Given the description of an element on the screen output the (x, y) to click on. 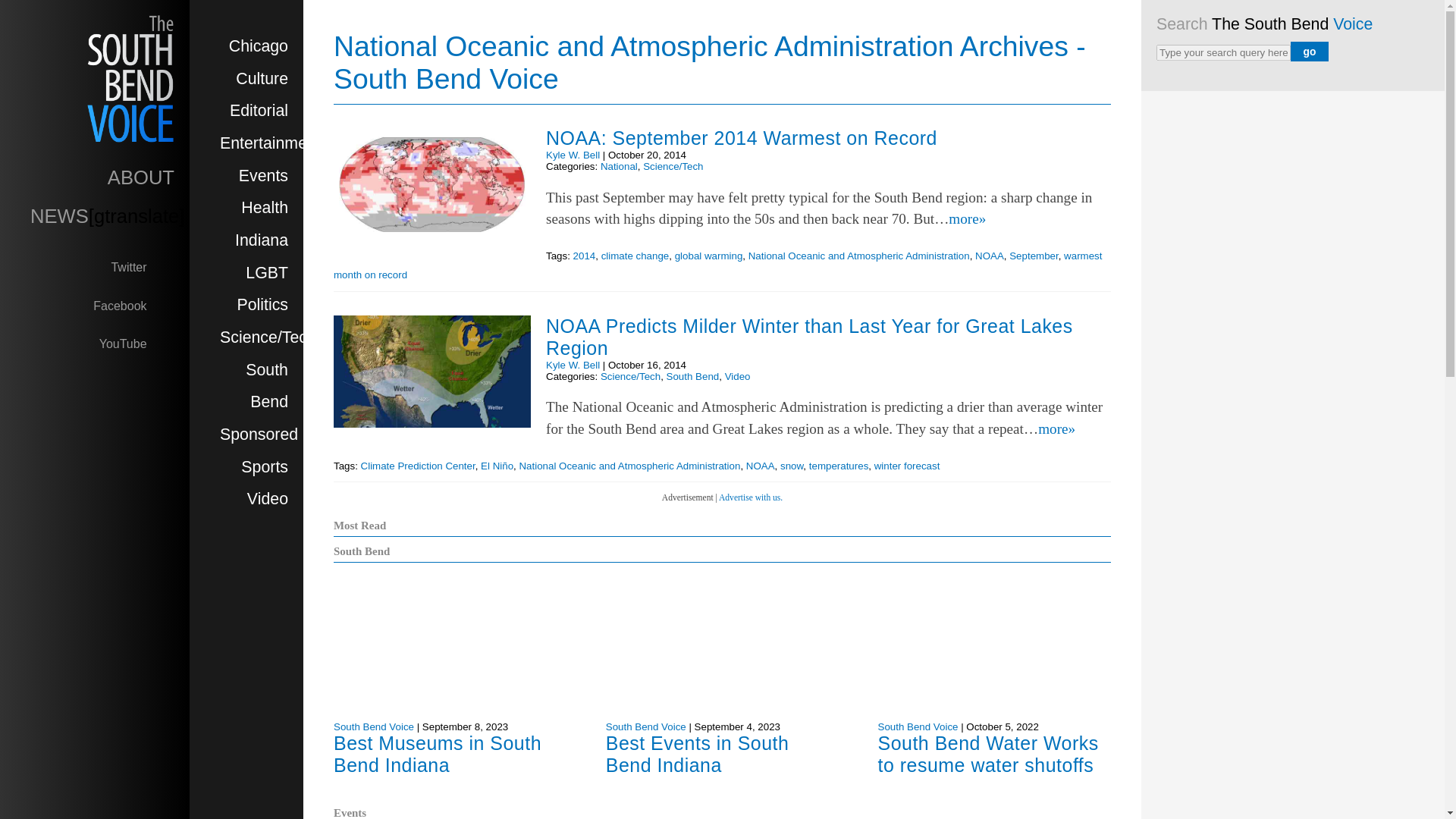
go (1308, 51)
Kyle W. Bell (572, 154)
2014 (584, 255)
Health (264, 208)
Chicago (258, 45)
National (618, 165)
Culture (261, 78)
Events (263, 176)
Twitter (142, 266)
Editorial (259, 110)
go (1308, 51)
NEWS (59, 215)
Posts by South Bend Voice (645, 726)
ABOUT (140, 177)
Facebook (133, 304)
